Given the description of an element on the screen output the (x, y) to click on. 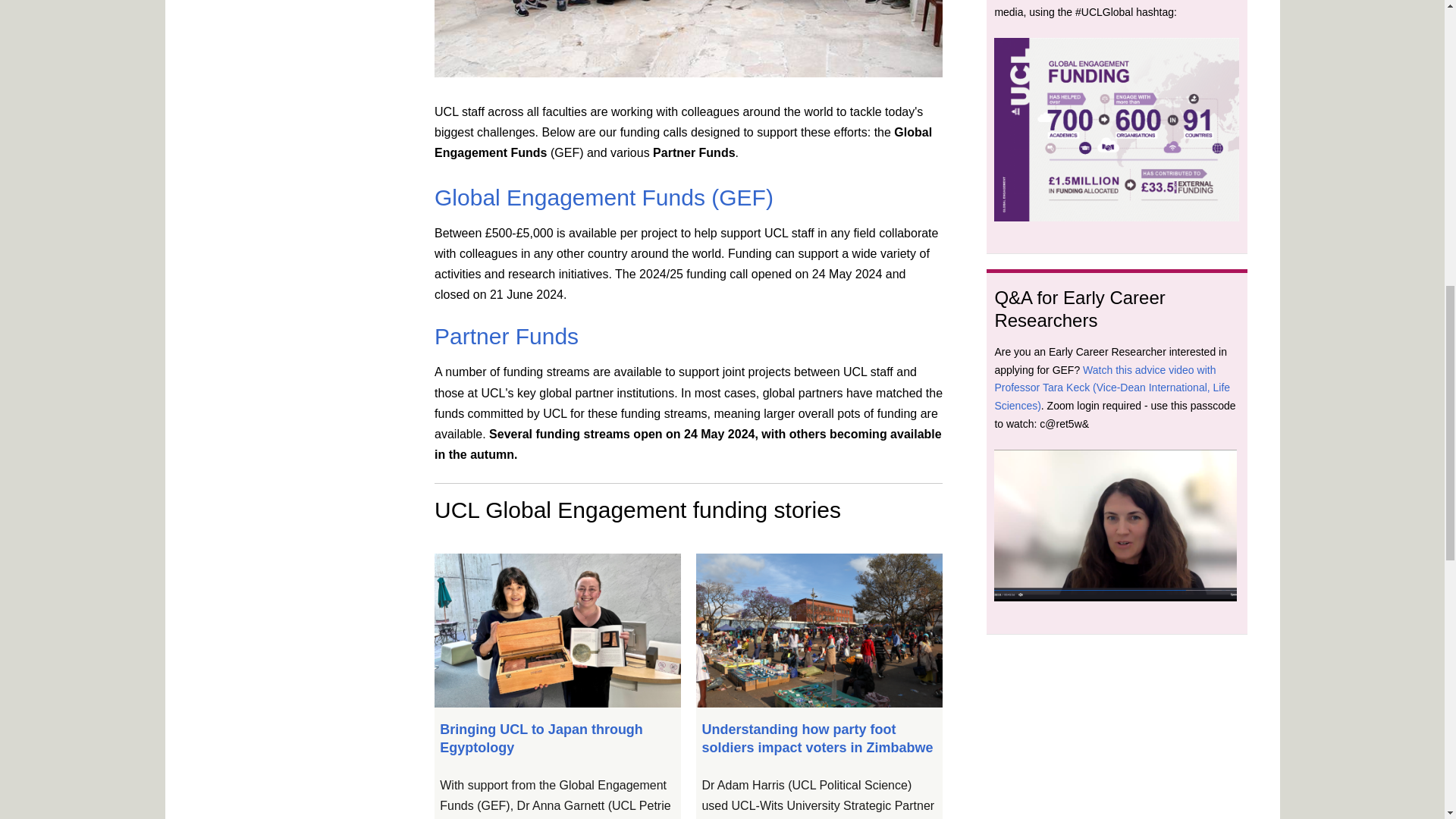
Bringing UCL to Japan through Egyptology (541, 737)
Partner Funds (505, 335)
